Given the description of an element on the screen output the (x, y) to click on. 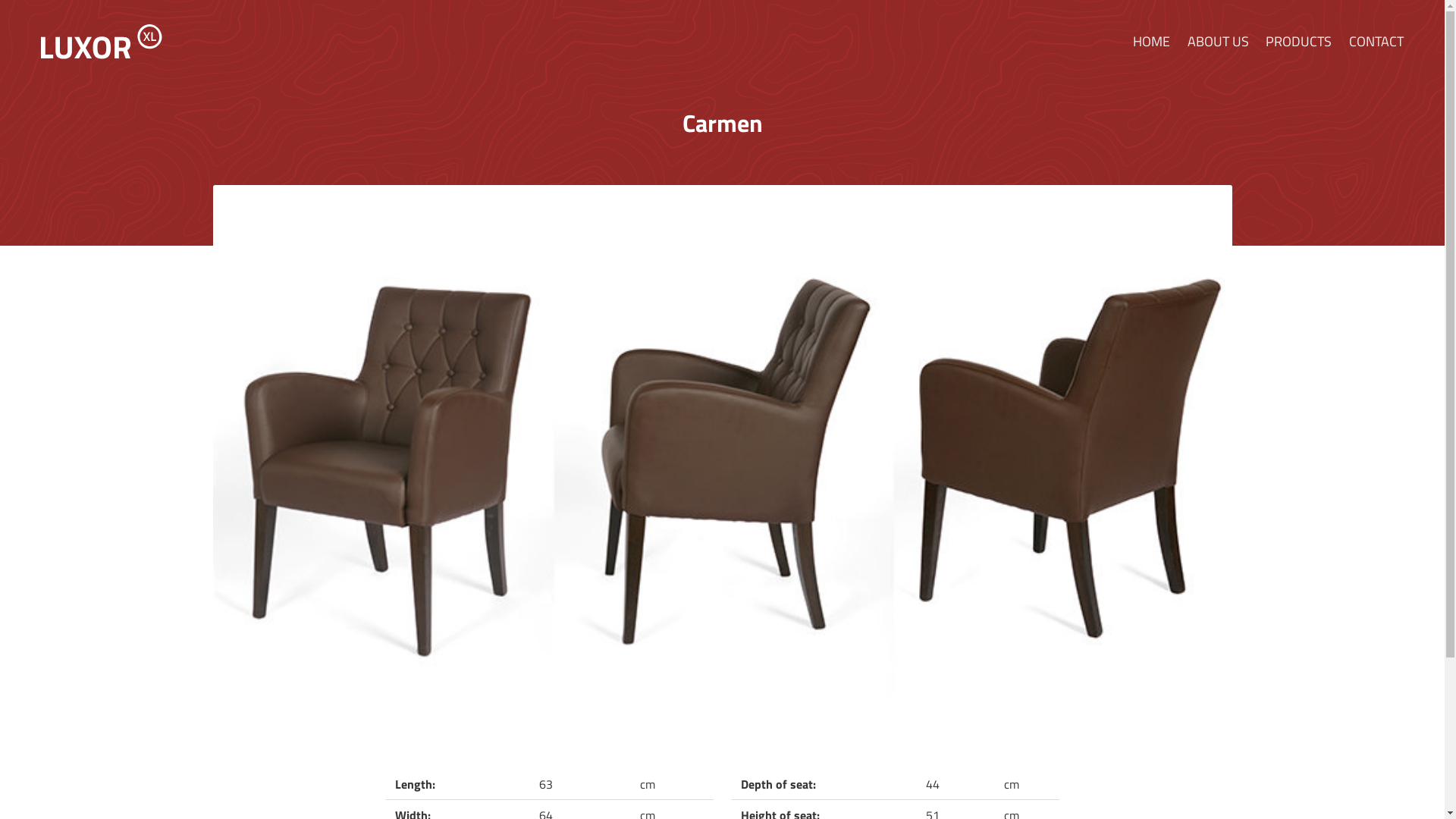
CONTACT Element type: text (1376, 41)
PRODUCTS Element type: text (1298, 41)
HOME Element type: text (1151, 41)
ABOUT US Element type: text (1217, 41)
